Given the description of an element on the screen output the (x, y) to click on. 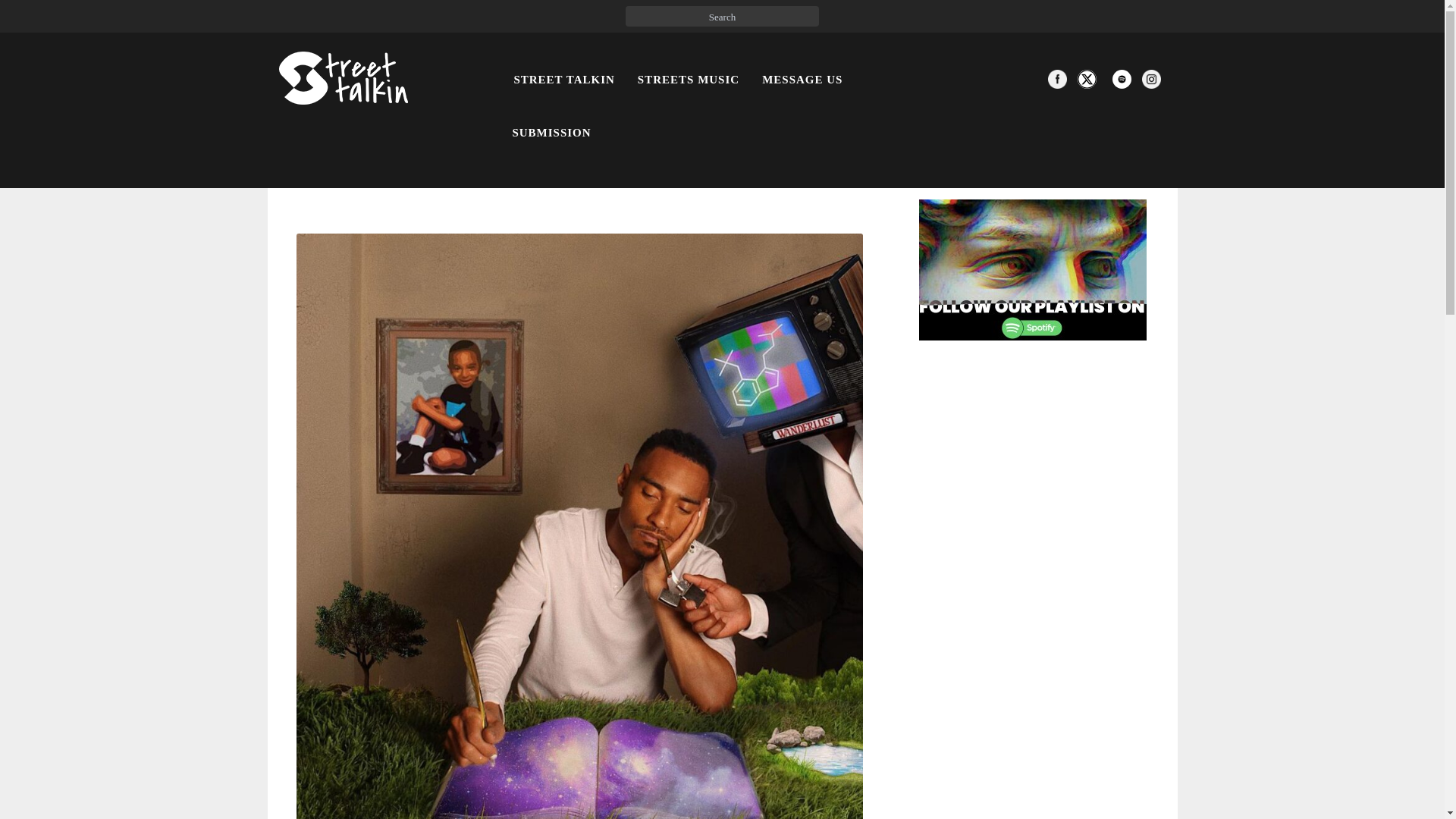
Submission (551, 132)
Advertisement (1018, 600)
STREET TALKIN (564, 79)
STREETS MUSIC (688, 79)
STREETS MUSIC (688, 79)
MESSAGE US (802, 79)
Street Talkin (564, 79)
SUBMISSION (551, 132)
Message Us (802, 79)
